Given the description of an element on the screen output the (x, y) to click on. 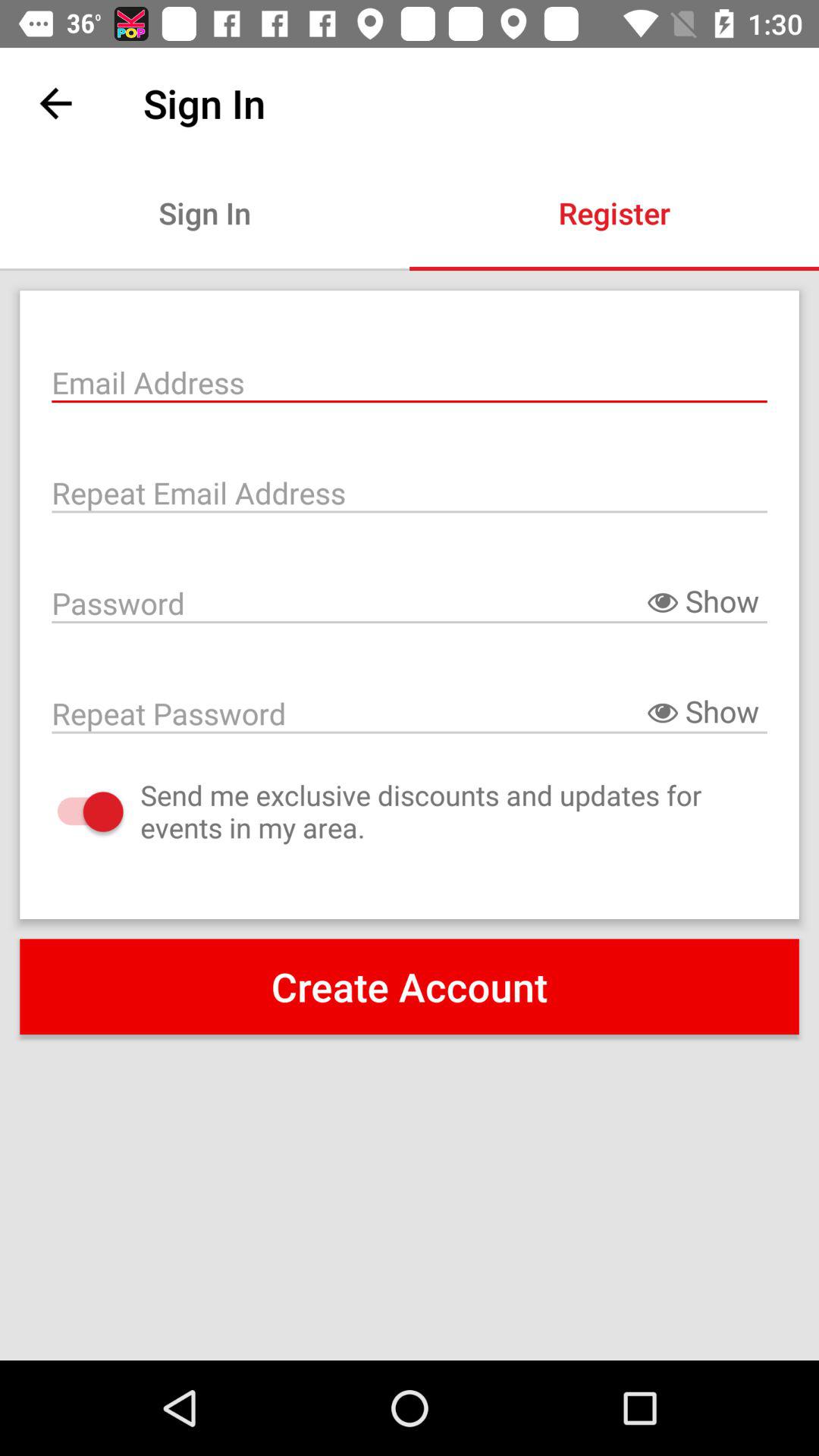
on/off button for discounts and events (74, 811)
